Given the description of an element on the screen output the (x, y) to click on. 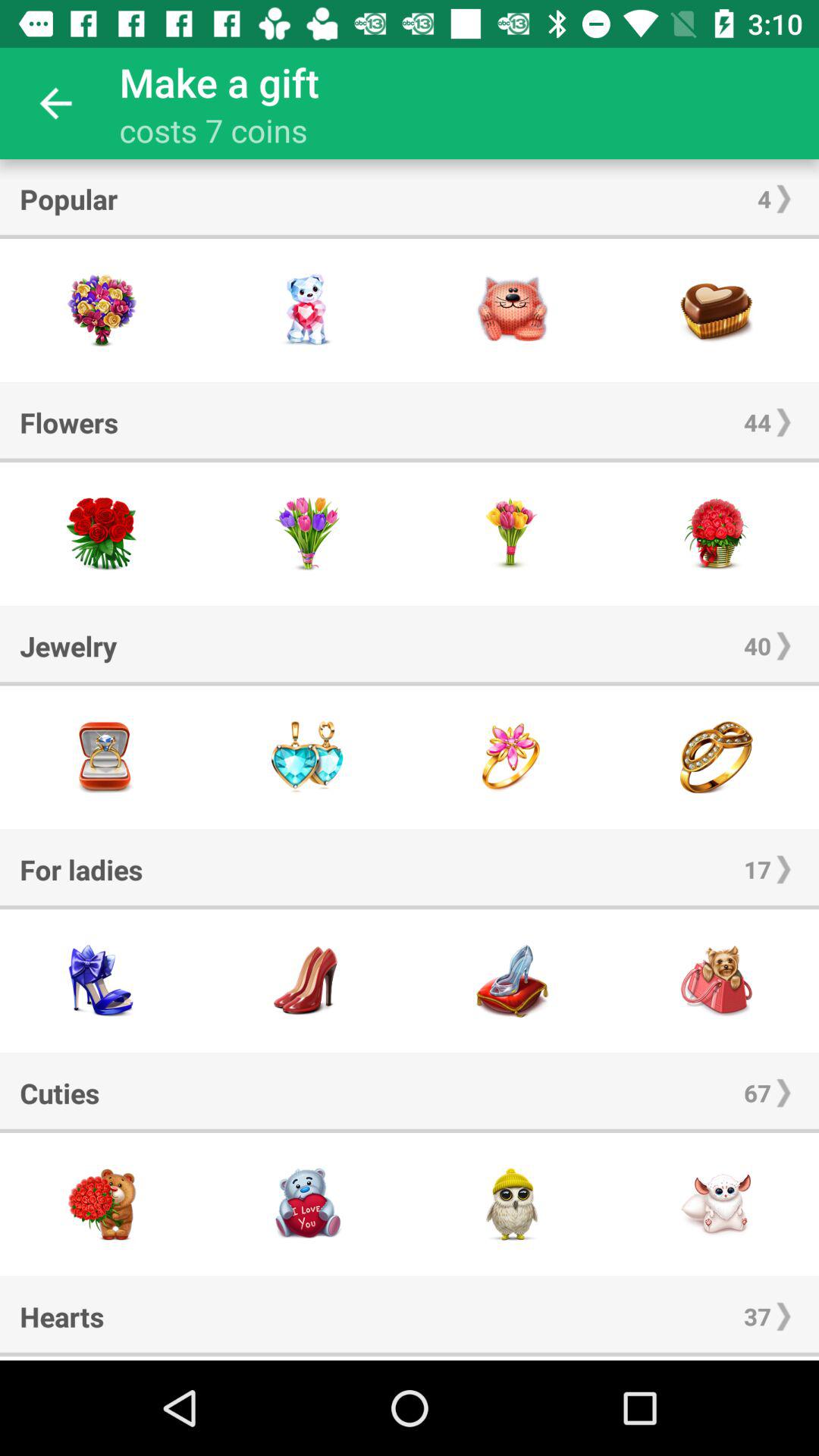
share the article (511, 980)
